Given the description of an element on the screen output the (x, y) to click on. 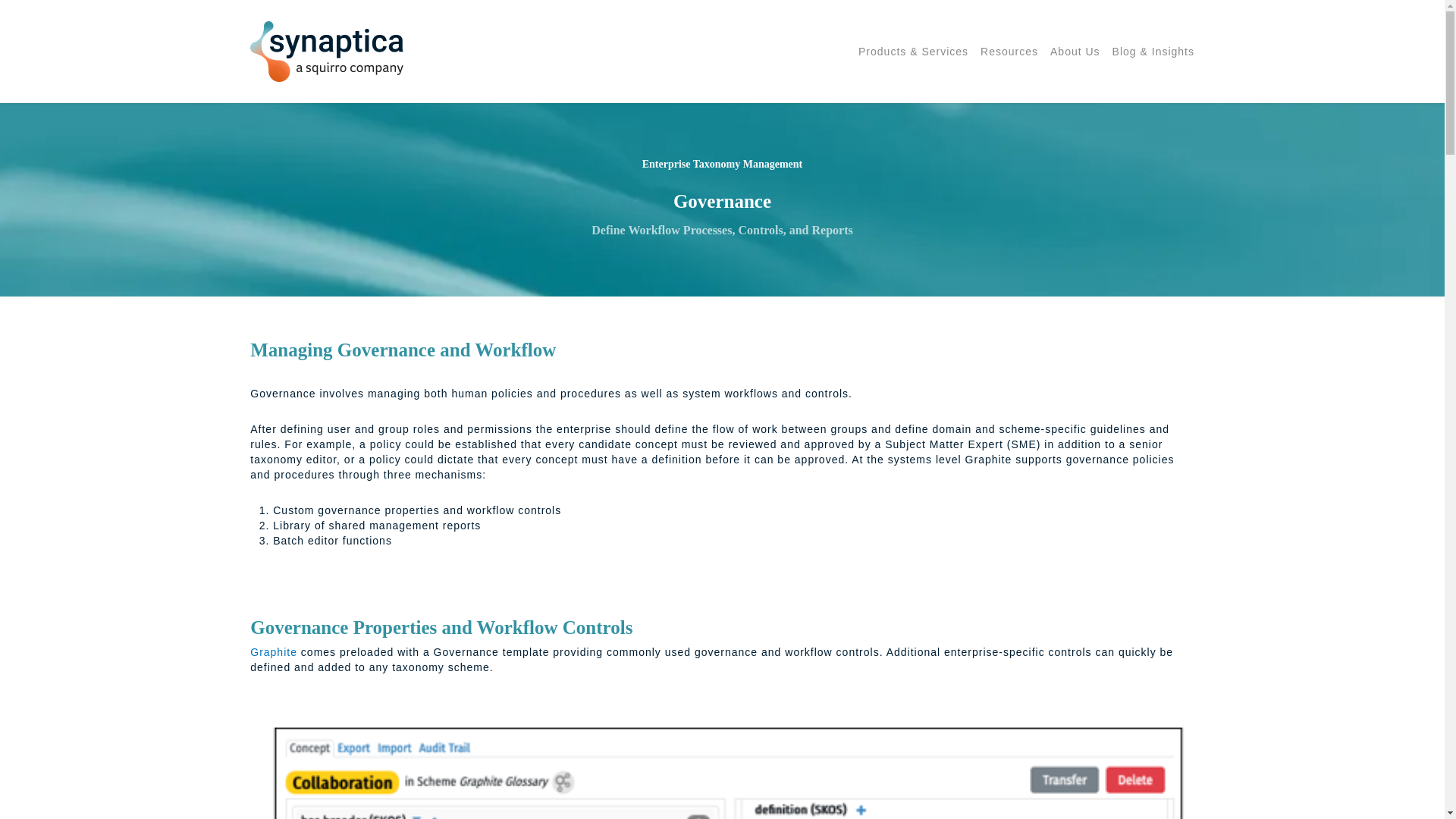
Graphite (273, 652)
About Us (1074, 50)
Resources (1008, 50)
